Given the description of an element on the screen output the (x, y) to click on. 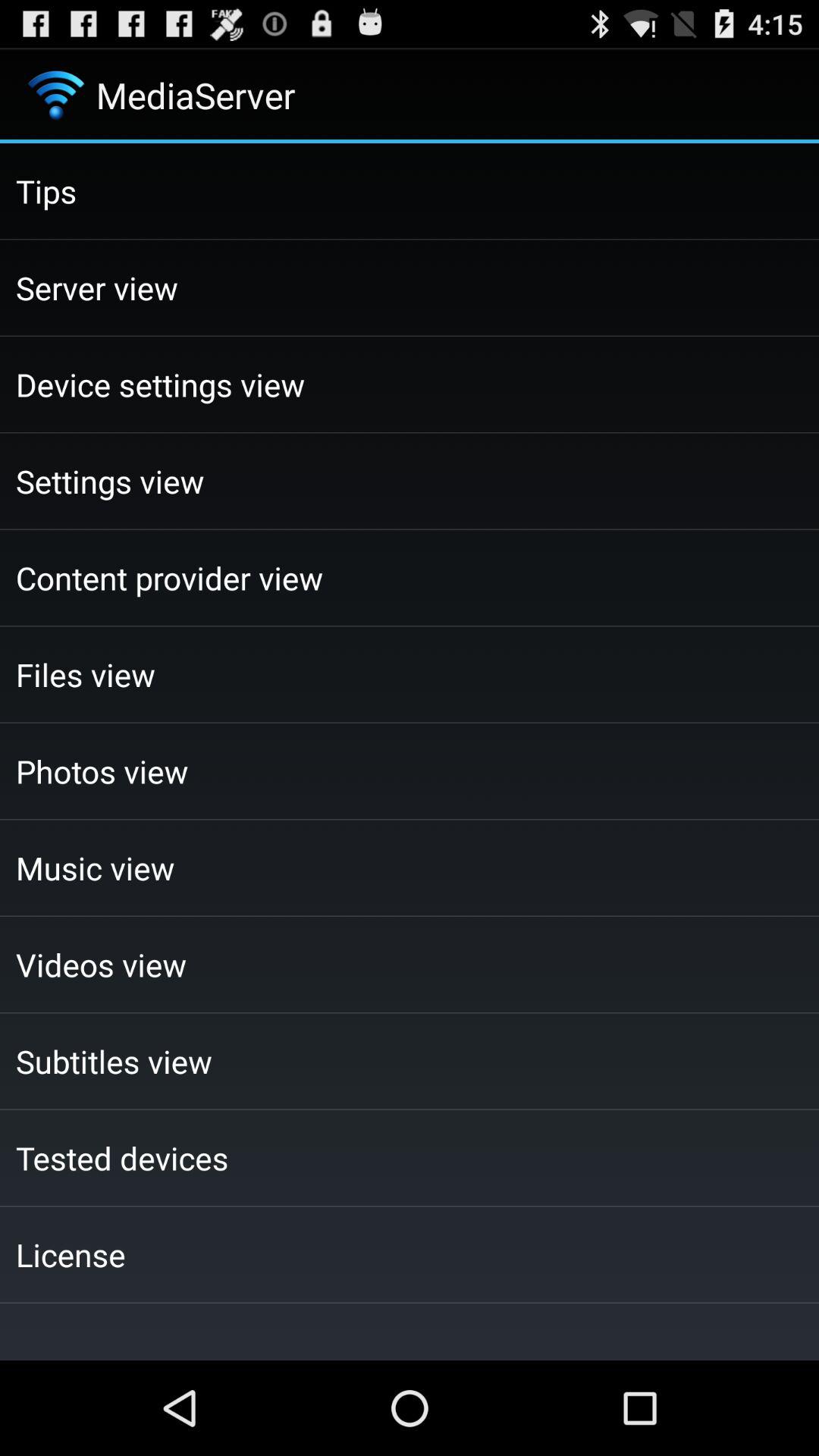
open checkbox below the photos view checkbox (409, 867)
